Given the description of an element on the screen output the (x, y) to click on. 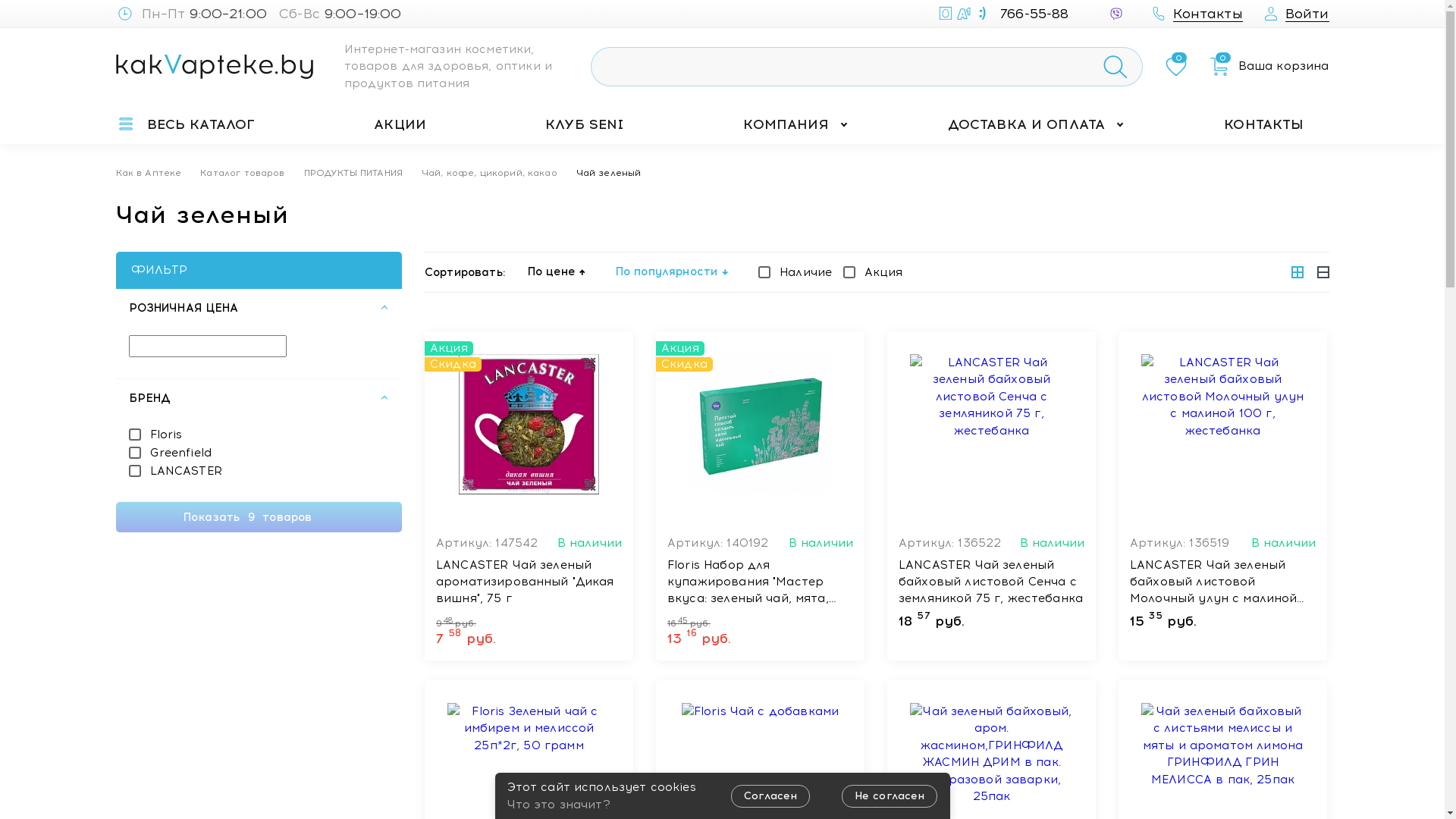
766-55-88 Element type: text (1009, 13)
0 Element type: text (1175, 66)
